Given the description of an element on the screen output the (x, y) to click on. 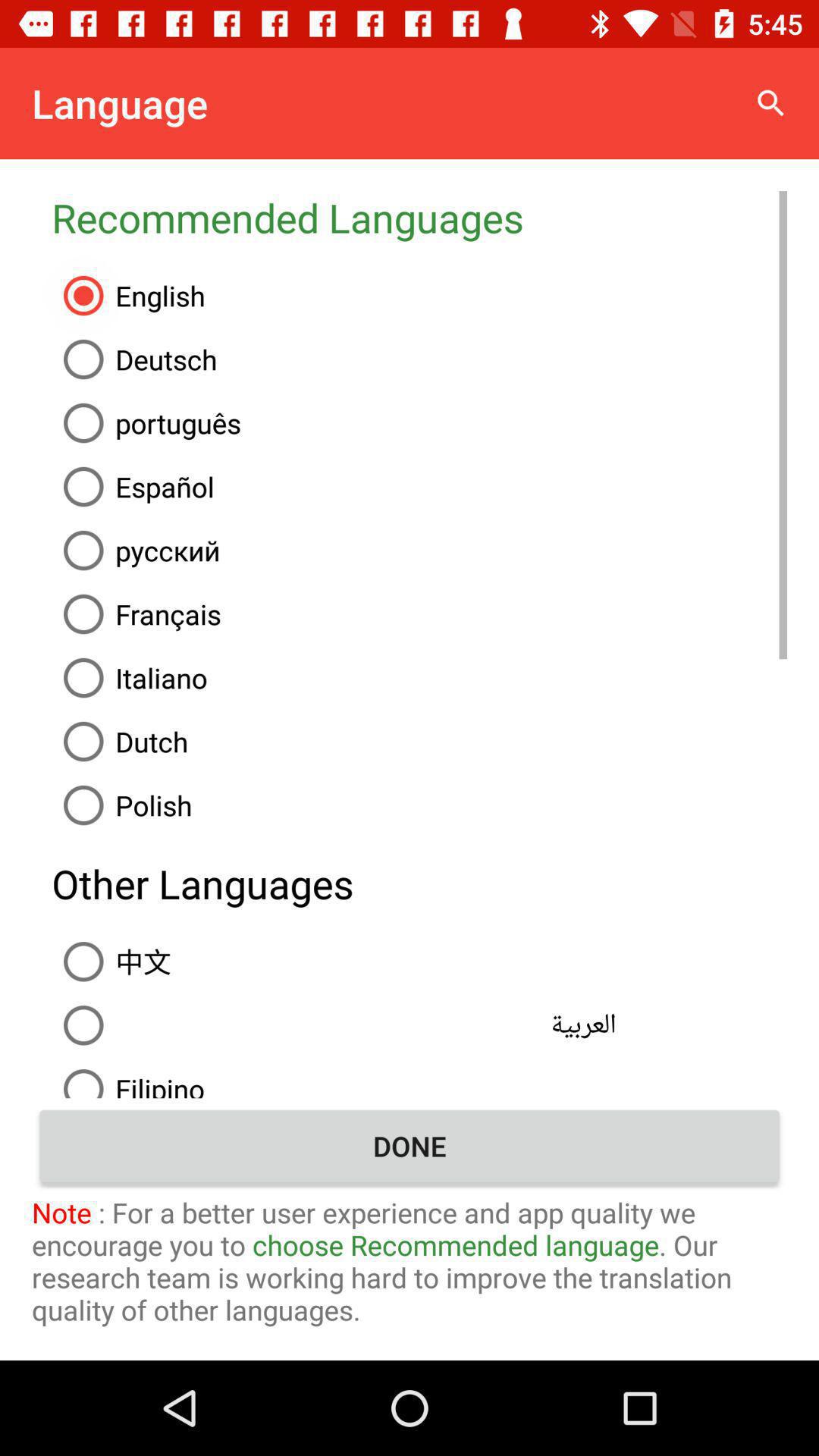
press the icon below the deutsch (419, 423)
